Given the description of an element on the screen output the (x, y) to click on. 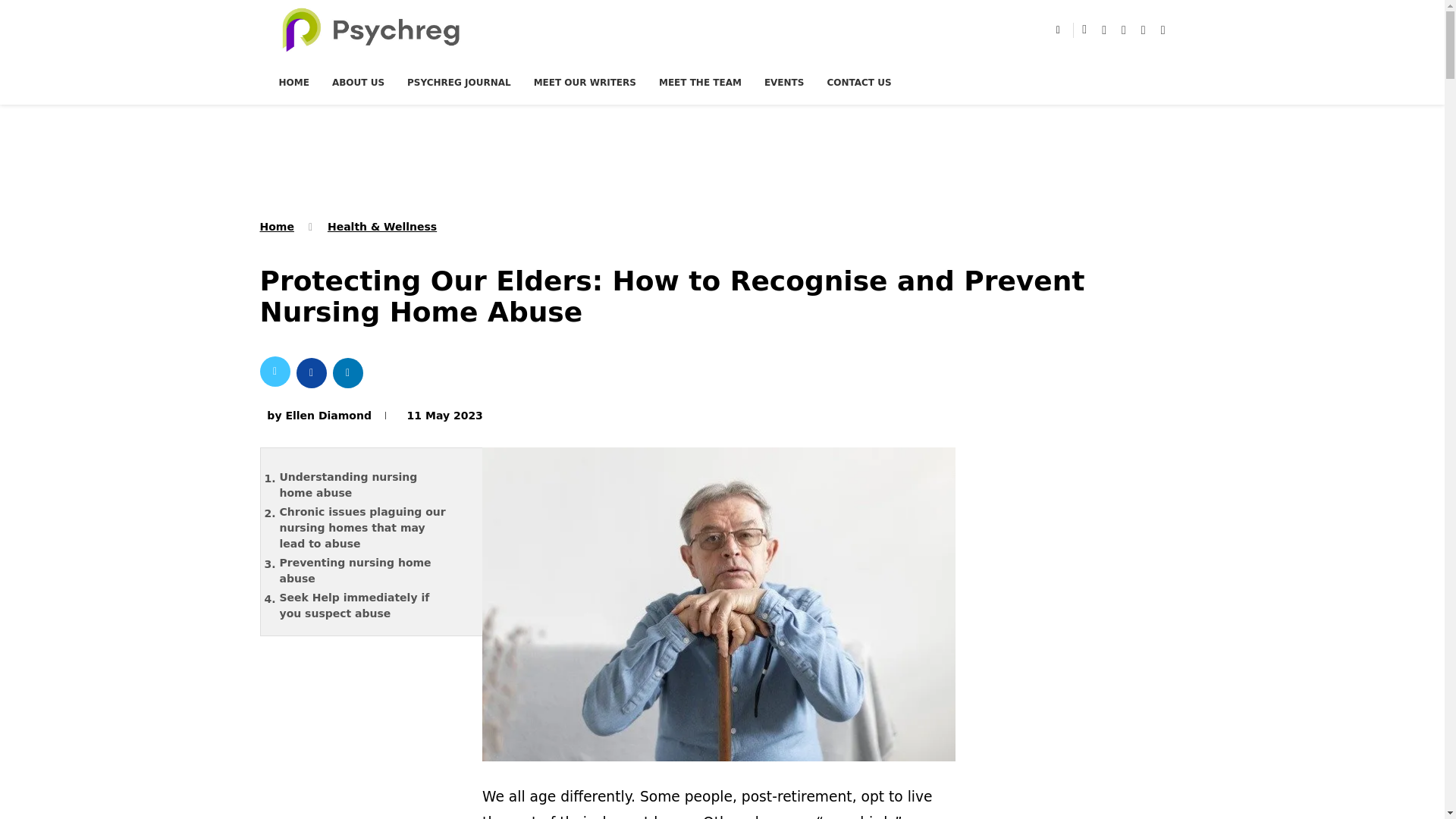
EVENTS (784, 82)
Seek Help immediately if you suspect abuse (373, 605)
Preventing nursing home abuse (373, 571)
Understanding nursing home abuse (373, 485)
CONTACT US (859, 82)
3rd party ad content (722, 160)
MEET OUR WRITERS (585, 82)
ABOUT US (357, 82)
MEET THE TEAM (700, 82)
PSYCHREG JOURNAL (459, 82)
